Given the description of an element on the screen output the (x, y) to click on. 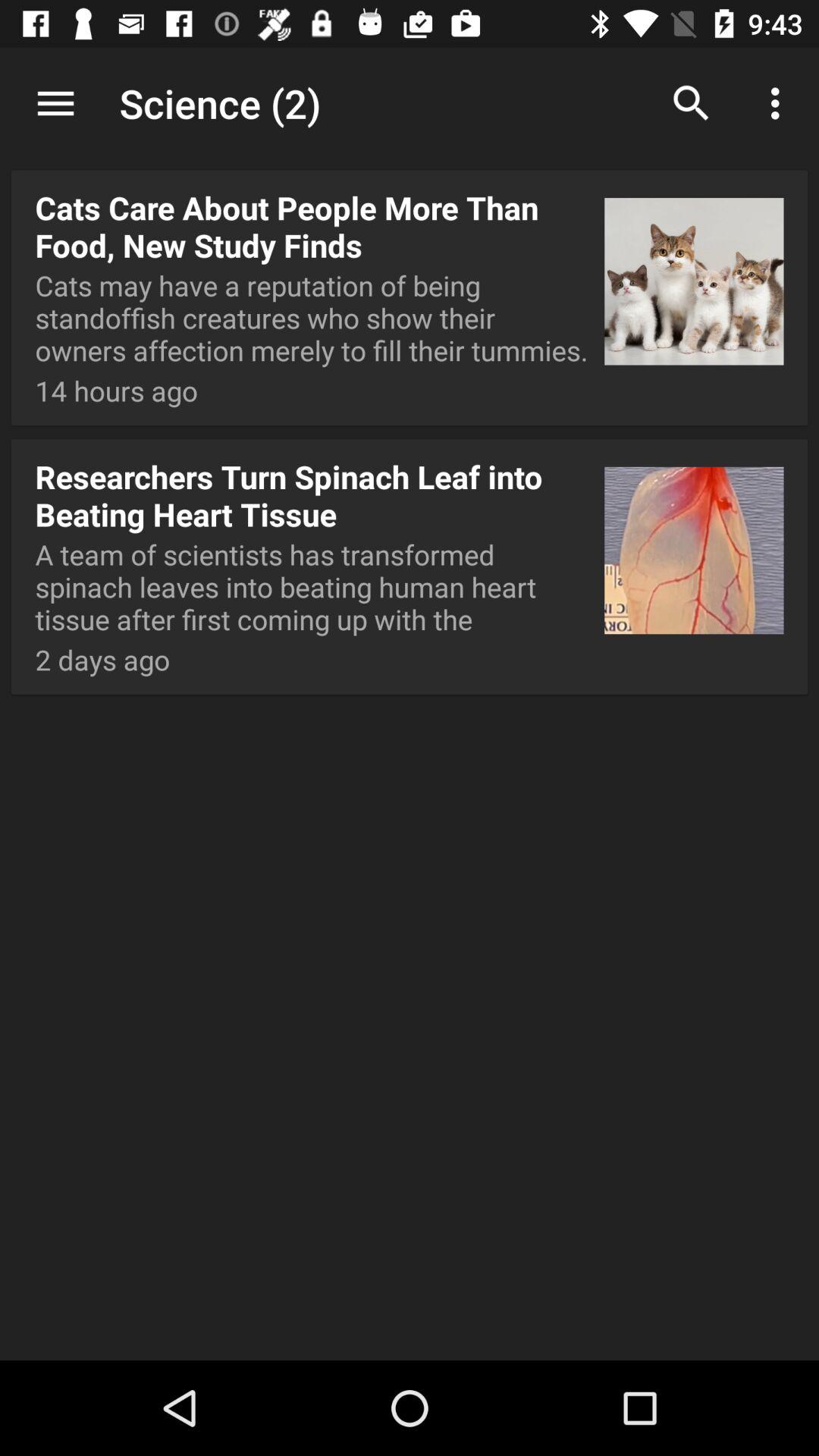
press item next to the science (2) (55, 103)
